Given the description of an element on the screen output the (x, y) to click on. 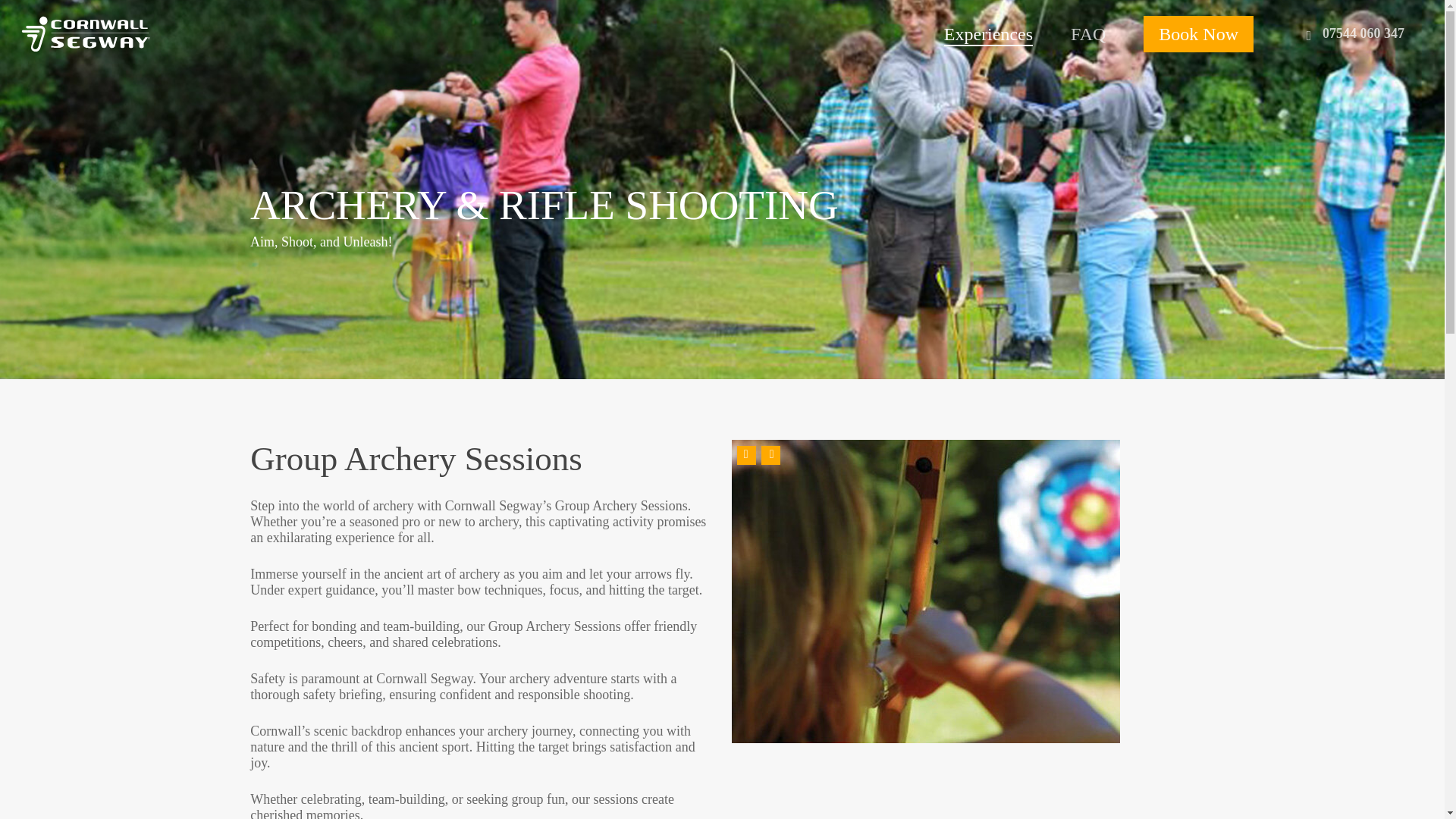
07544 060 347 (1363, 33)
phone (1308, 34)
FAQ (1087, 34)
Experiences (987, 34)
Book Now (1197, 34)
